Given the description of an element on the screen output the (x, y) to click on. 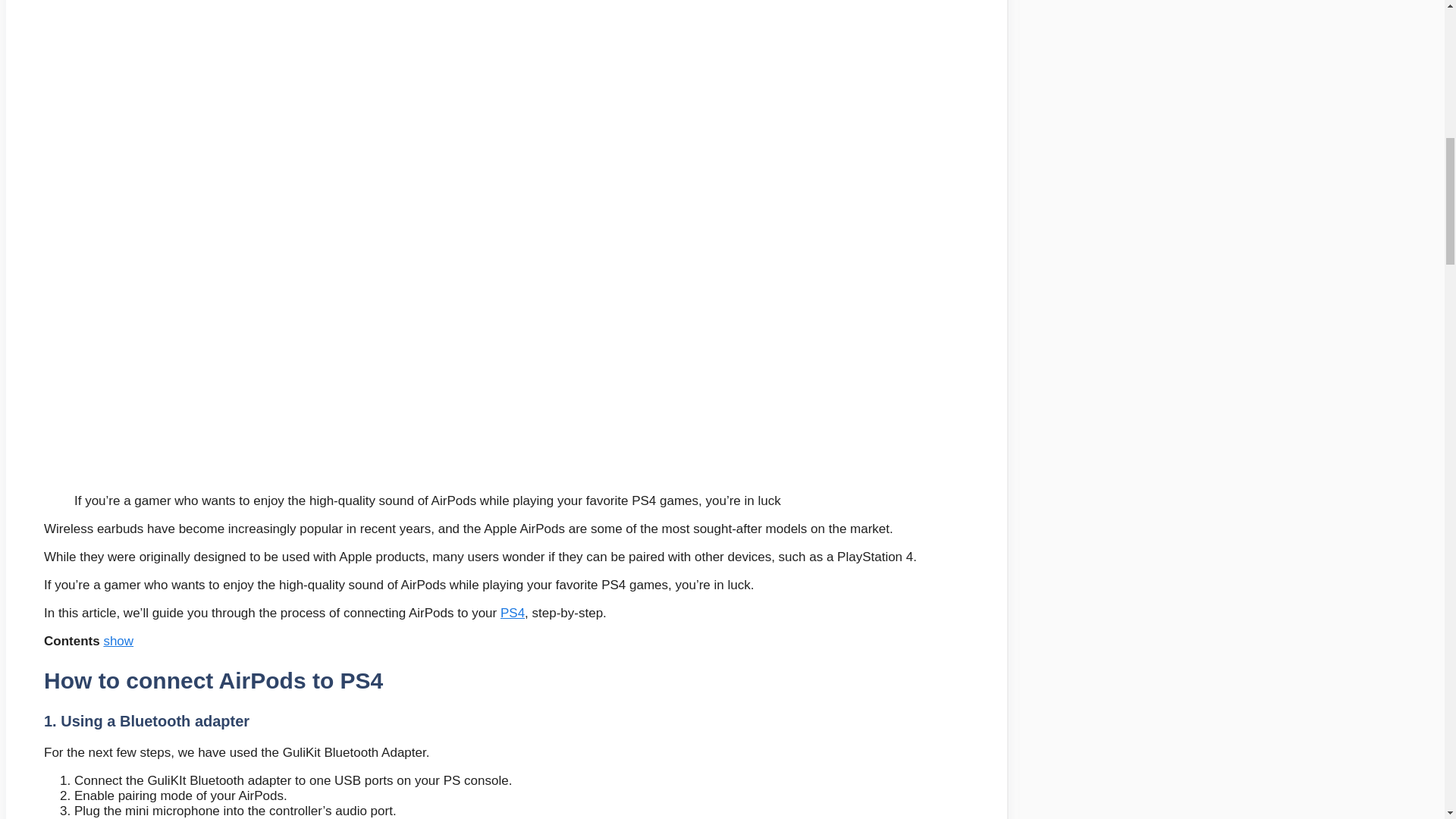
PS4 (512, 612)
show (118, 640)
